Given the description of an element on the screen output the (x, y) to click on. 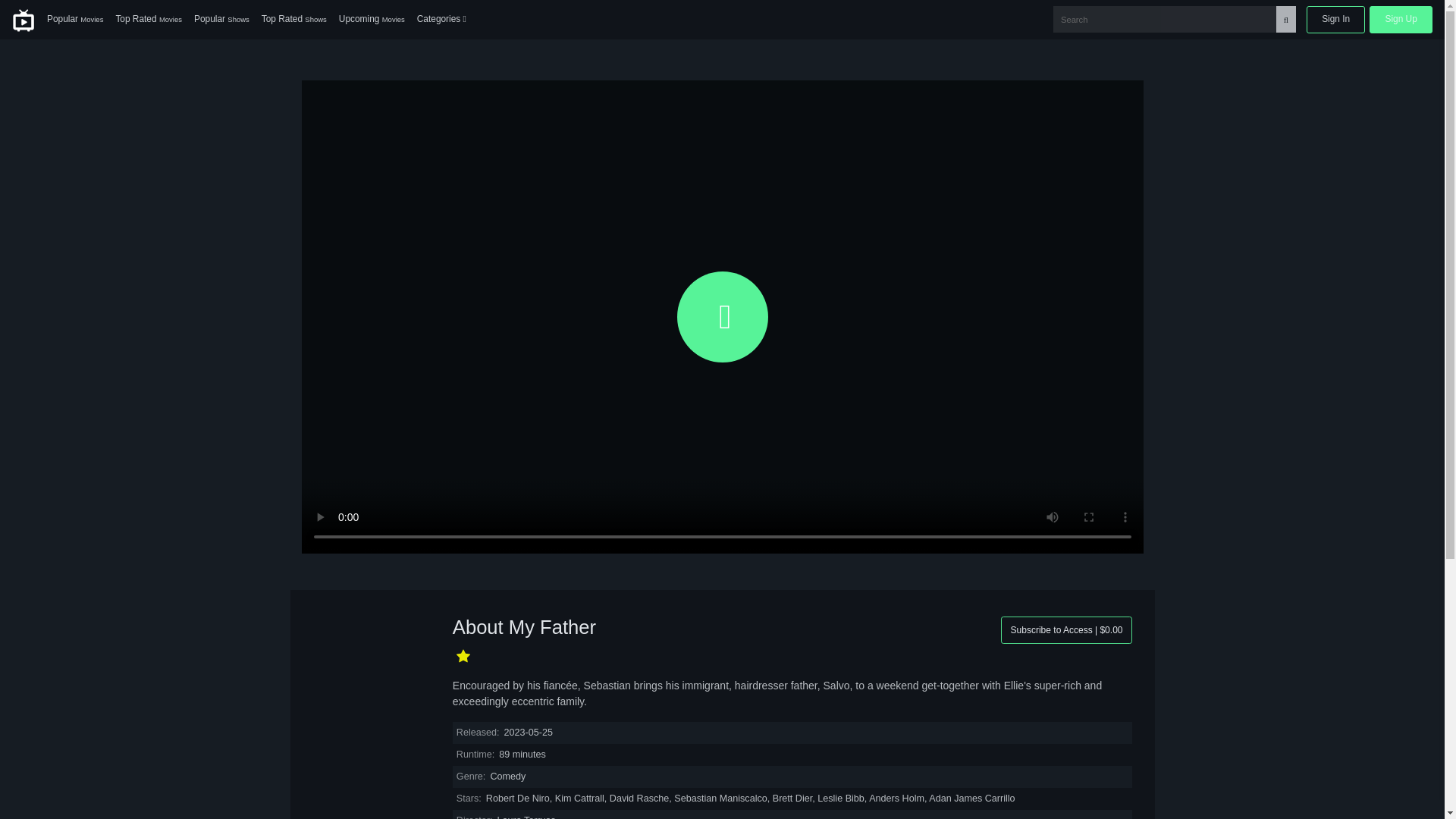
Top Rated Shows (294, 19)
Popular Shows (221, 19)
Top Rated Movies (148, 19)
Popular Movies (74, 19)
Categories (440, 19)
Upcoming Movies (371, 19)
